Given the description of an element on the screen output the (x, y) to click on. 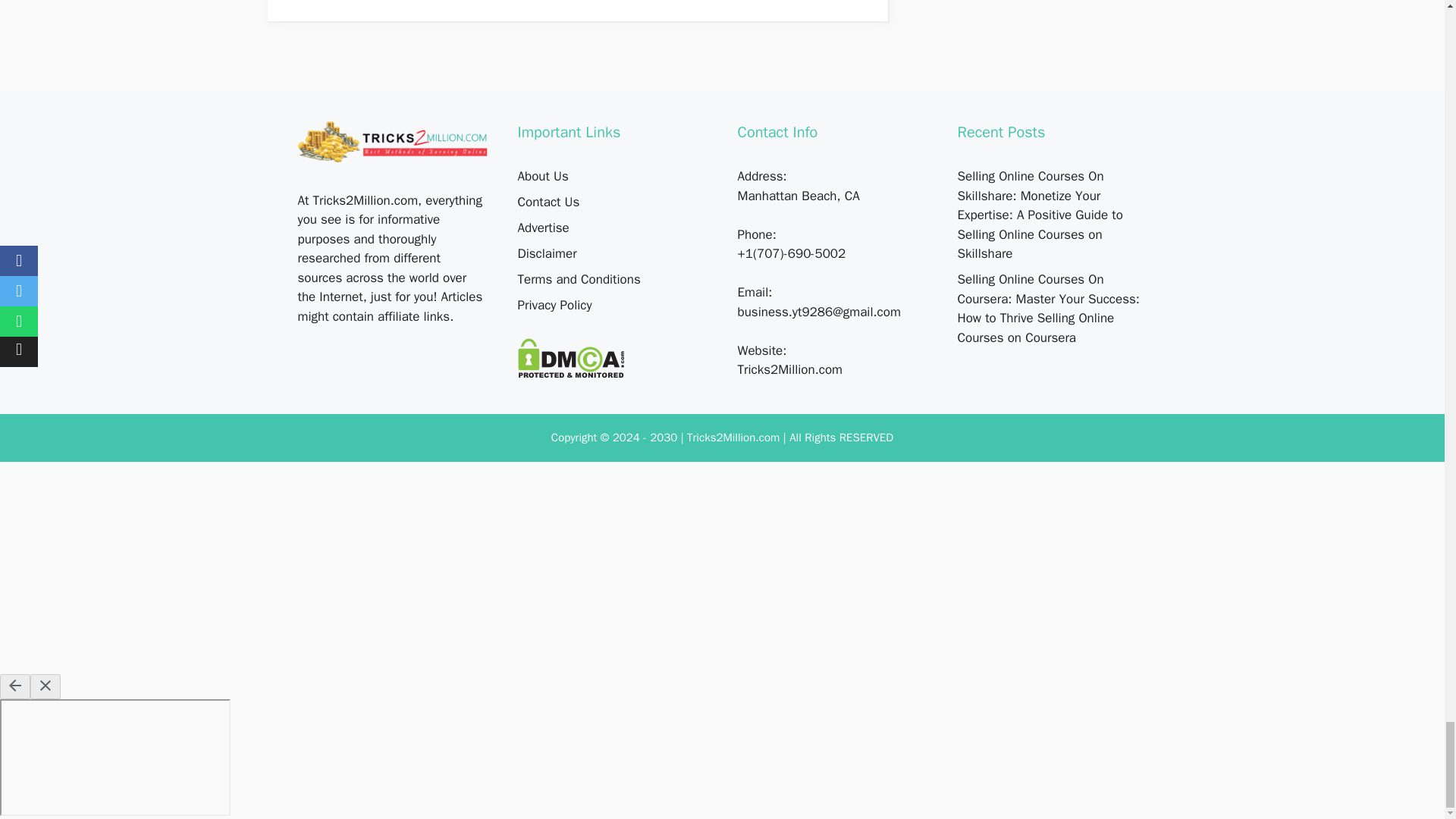
Tricks2Million's DMCA Protection Declaration (570, 374)
